Given the description of an element on the screen output the (x, y) to click on. 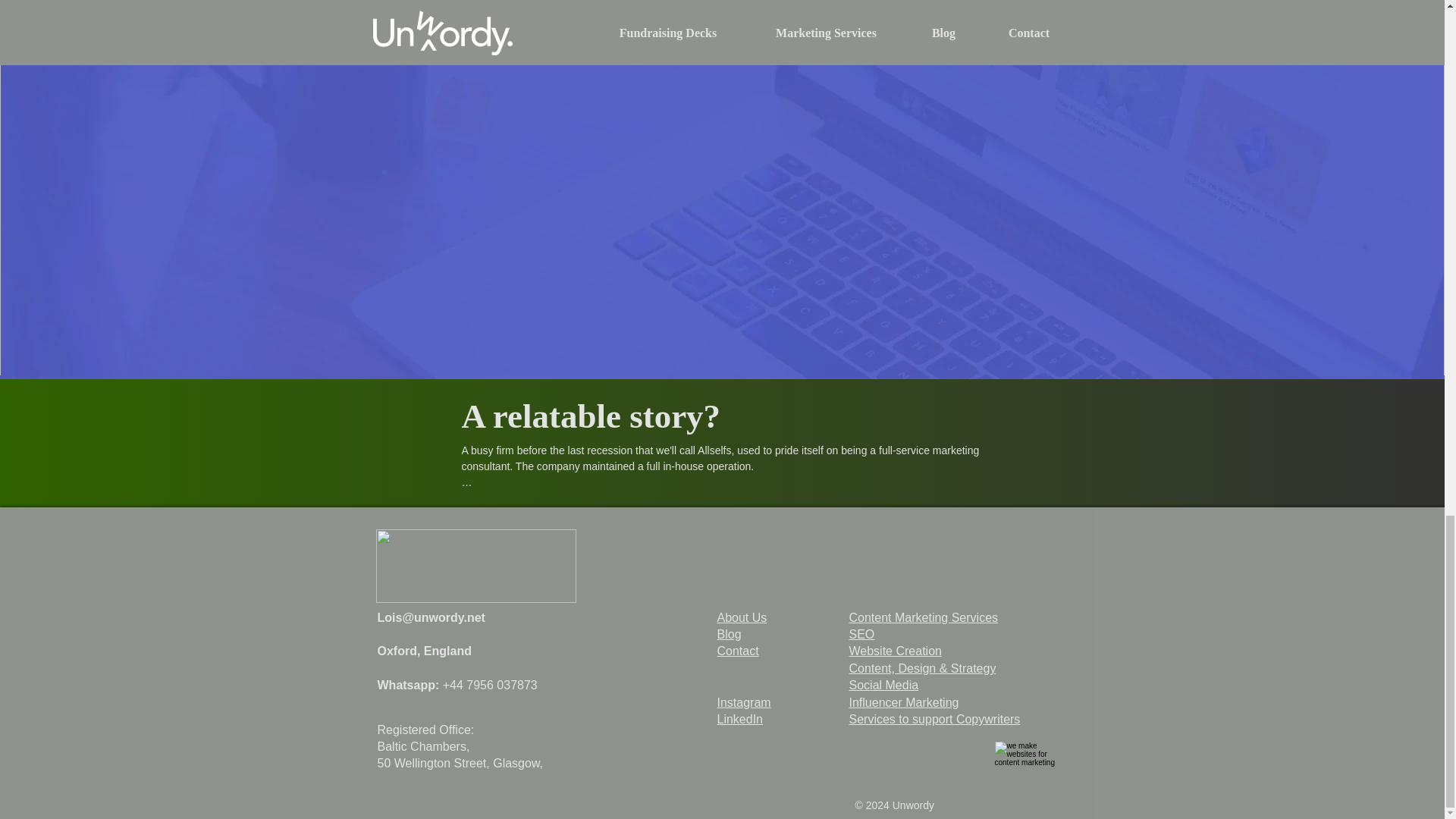
LinkedIn (739, 718)
Instagram (744, 702)
Influencer Marketing (903, 702)
Content Marketing Services (923, 617)
Social Media (883, 684)
Blog (729, 634)
Unwordy-white.png (475, 565)
Services to support Copywriters (934, 718)
SEO (861, 634)
Contact (737, 650)
